Given the description of an element on the screen output the (x, y) to click on. 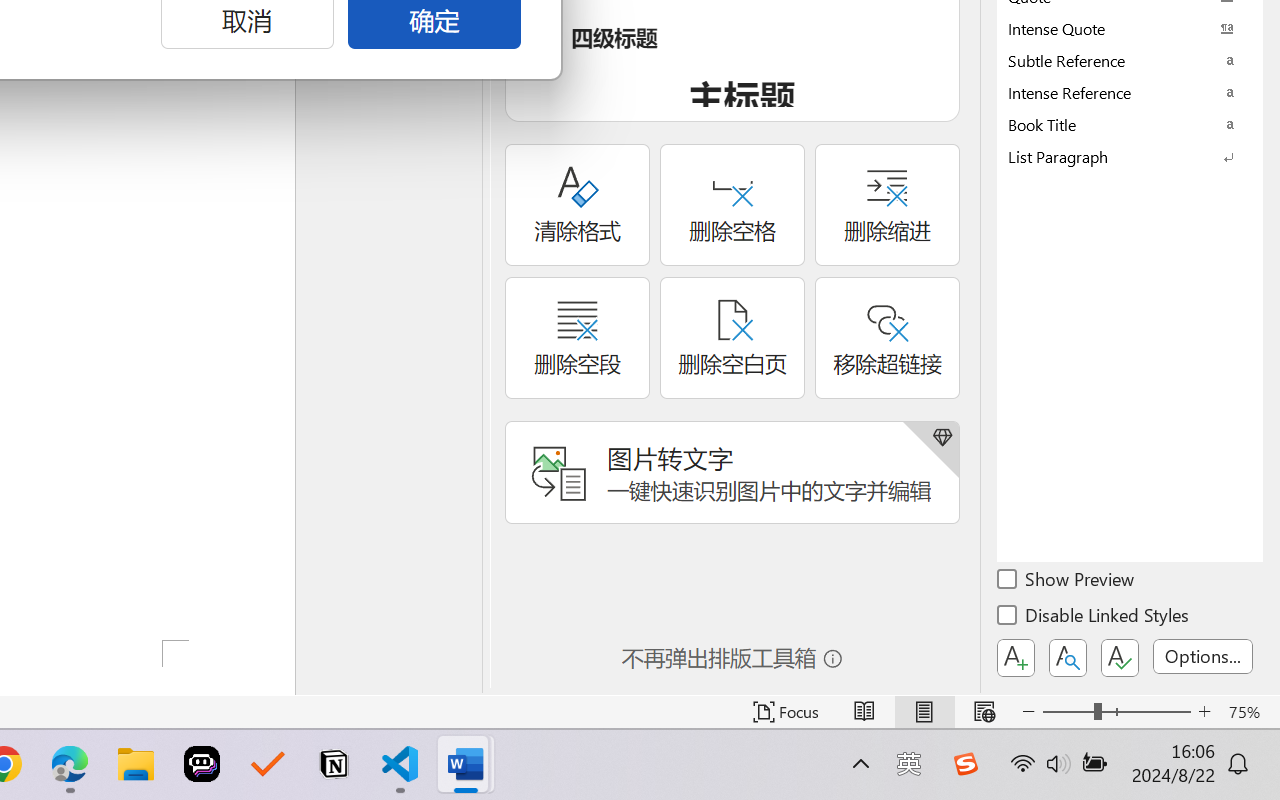
Focus  (786, 712)
Intense Quote (1130, 28)
Read Mode (864, 712)
Notion (333, 764)
